Given the description of an element on the screen output the (x, y) to click on. 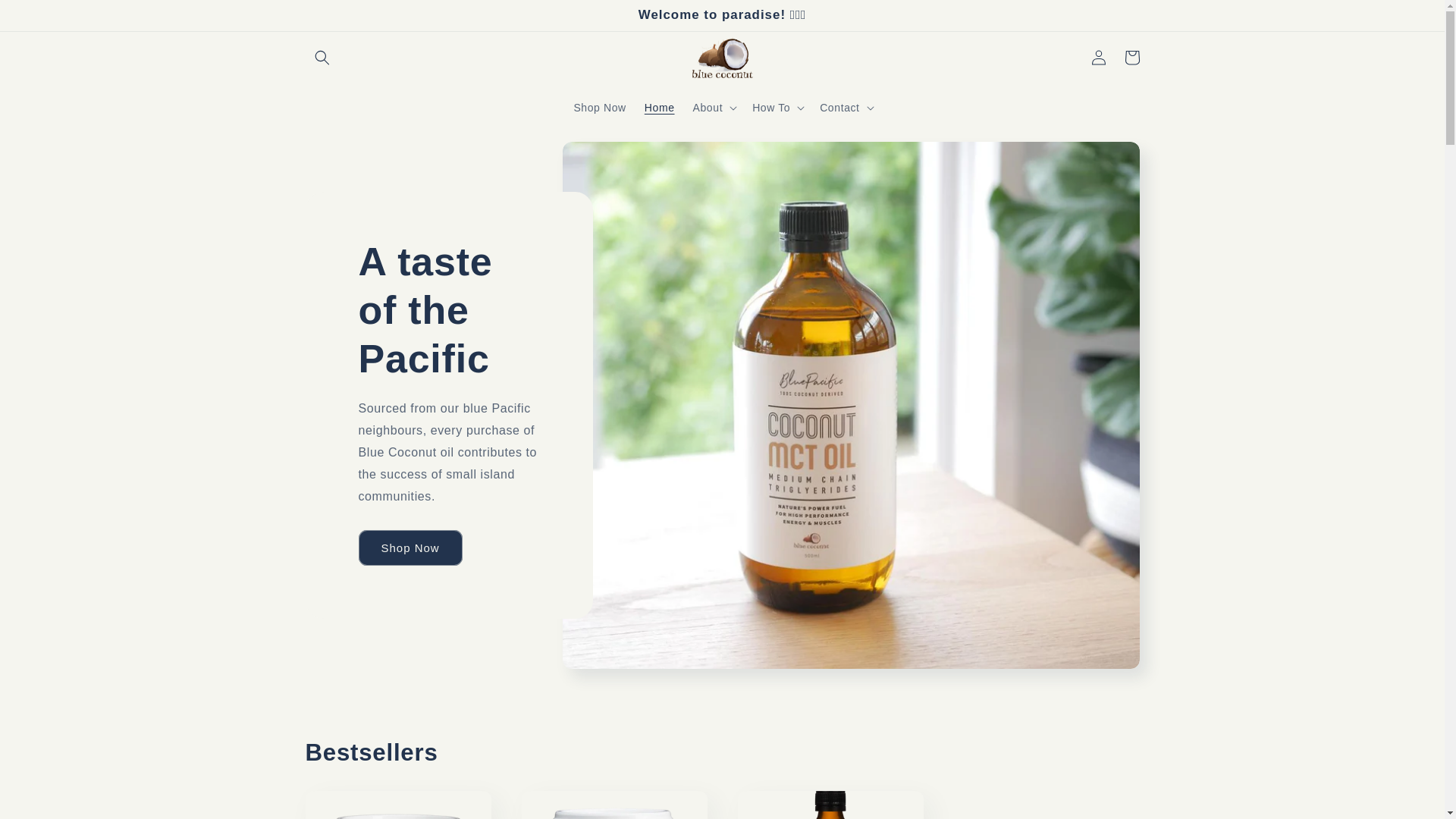
Home (659, 107)
Shop Now (599, 107)
Skip to content (45, 17)
